Given the description of an element on the screen output the (x, y) to click on. 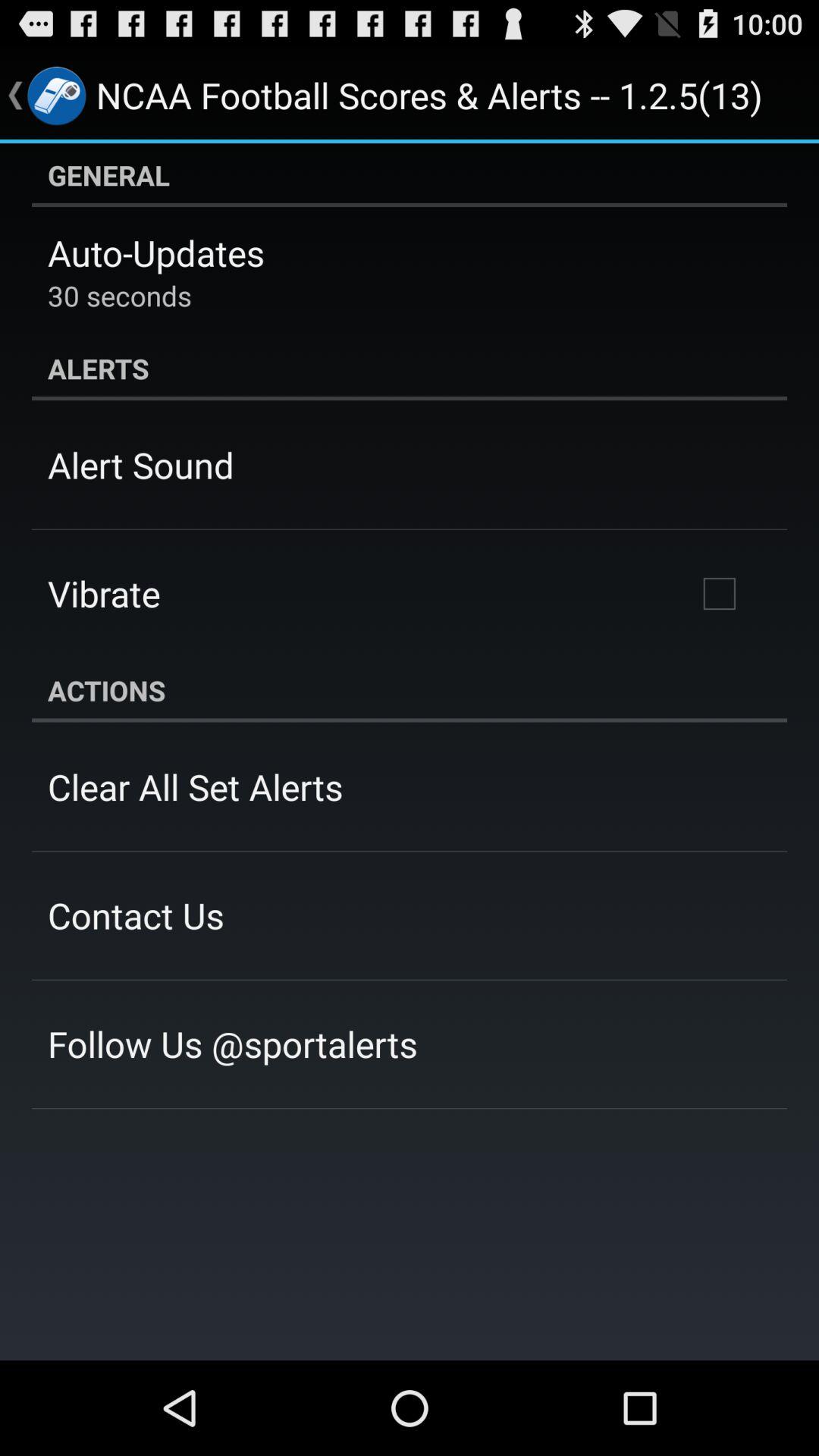
select app above the vibrate item (140, 464)
